Given the description of an element on the screen output the (x, y) to click on. 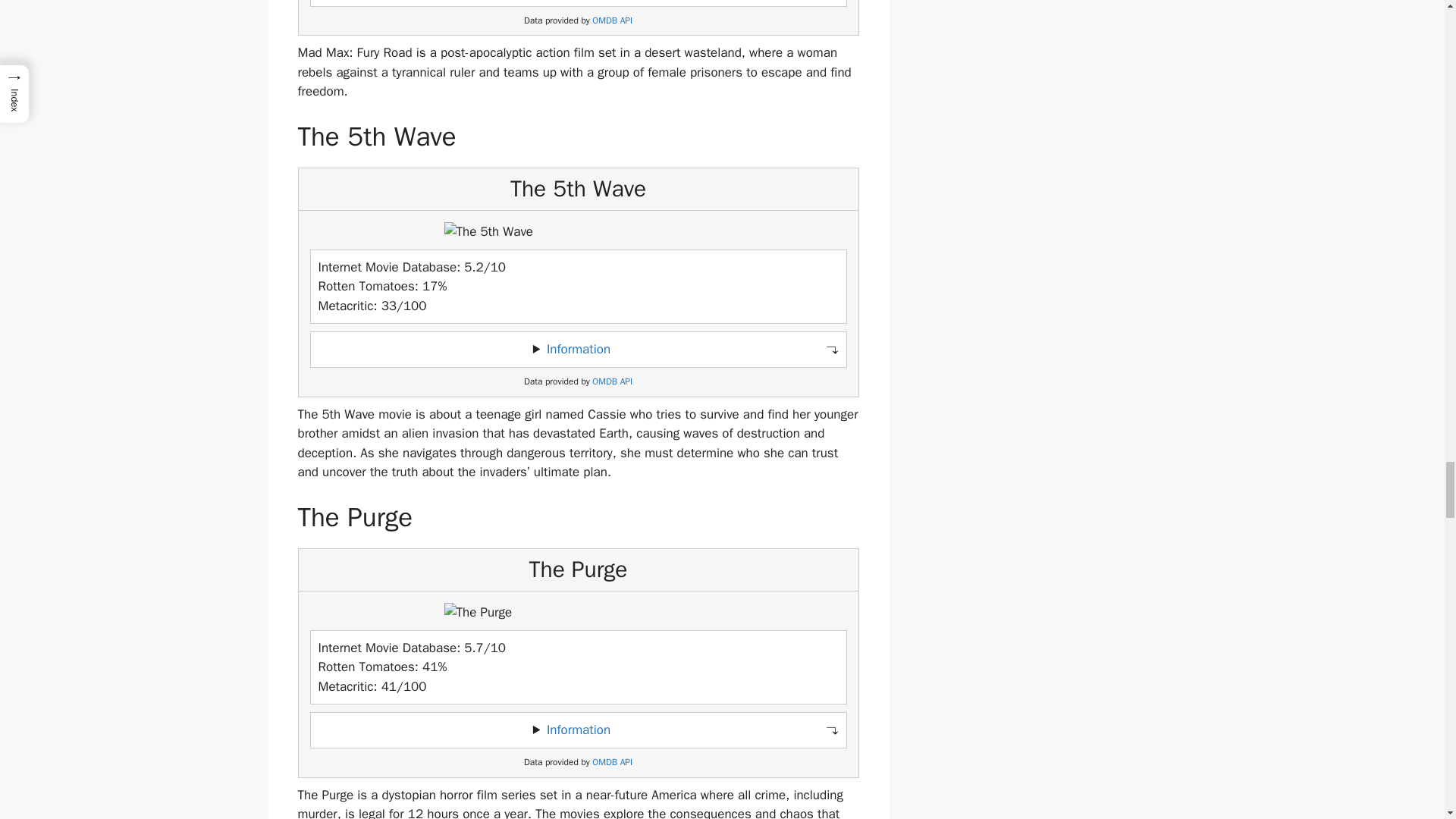
Information (578, 729)
OMDB API (611, 20)
OMDB API (611, 762)
OMDB API (611, 381)
Information (578, 349)
